Given the description of an element on the screen output the (x, y) to click on. 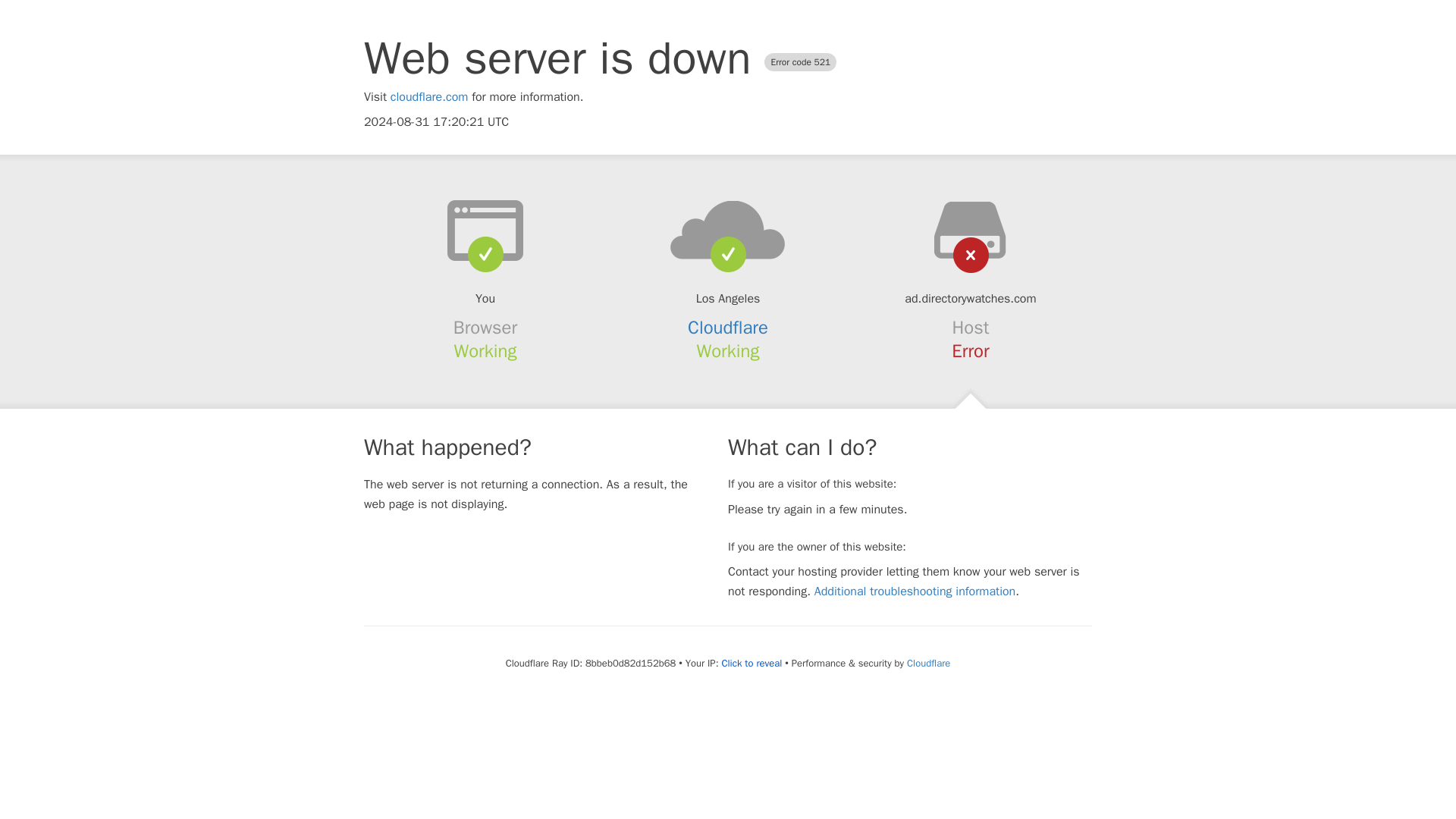
Click to reveal (750, 663)
Cloudflare (928, 662)
Cloudflare (727, 327)
cloudflare.com (429, 96)
Additional troubleshooting information (913, 590)
